Given the description of an element on the screen output the (x, y) to click on. 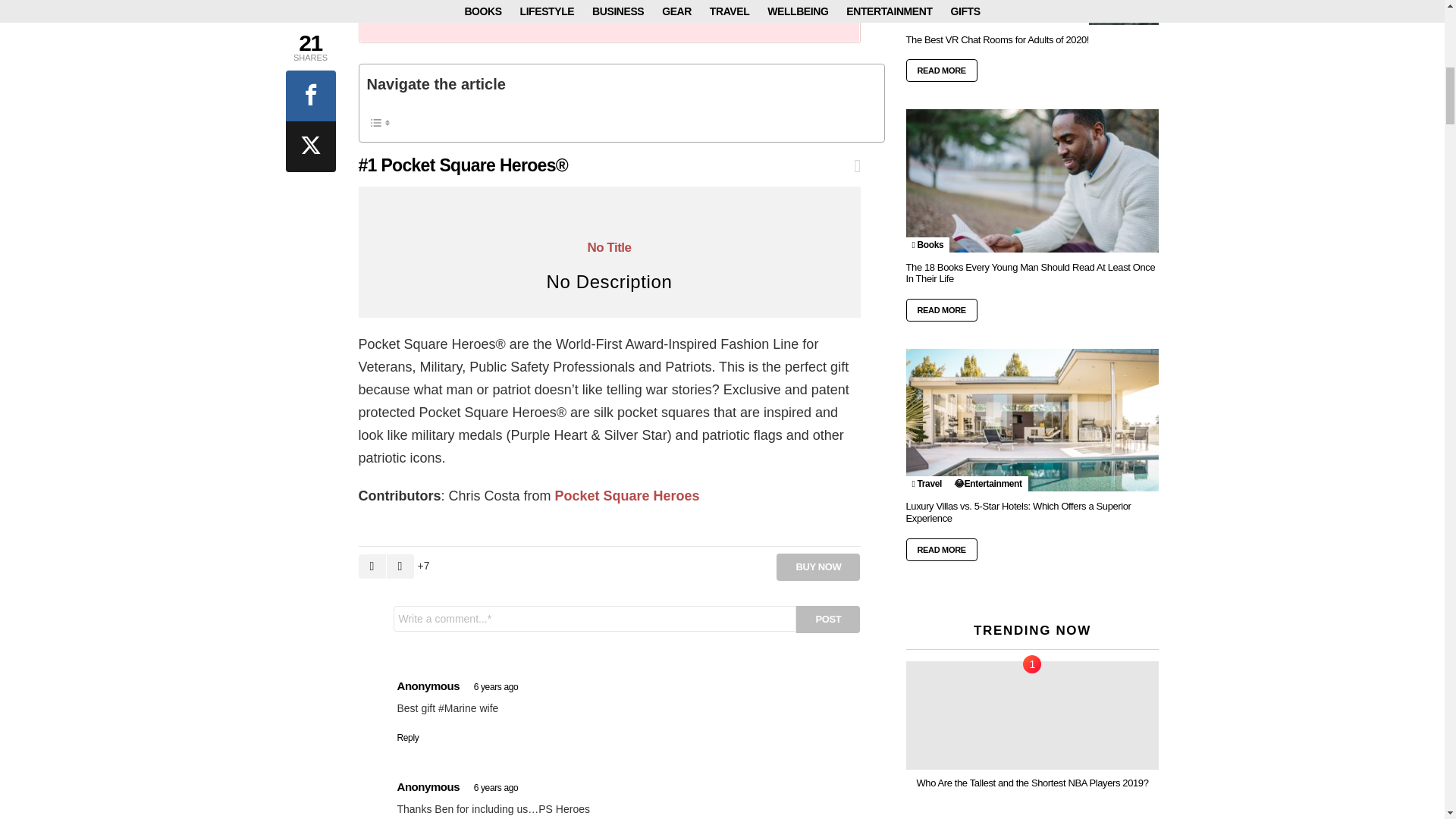
Upvote (371, 566)
Post (828, 619)
Downvote (400, 566)
